Given the description of an element on the screen output the (x, y) to click on. 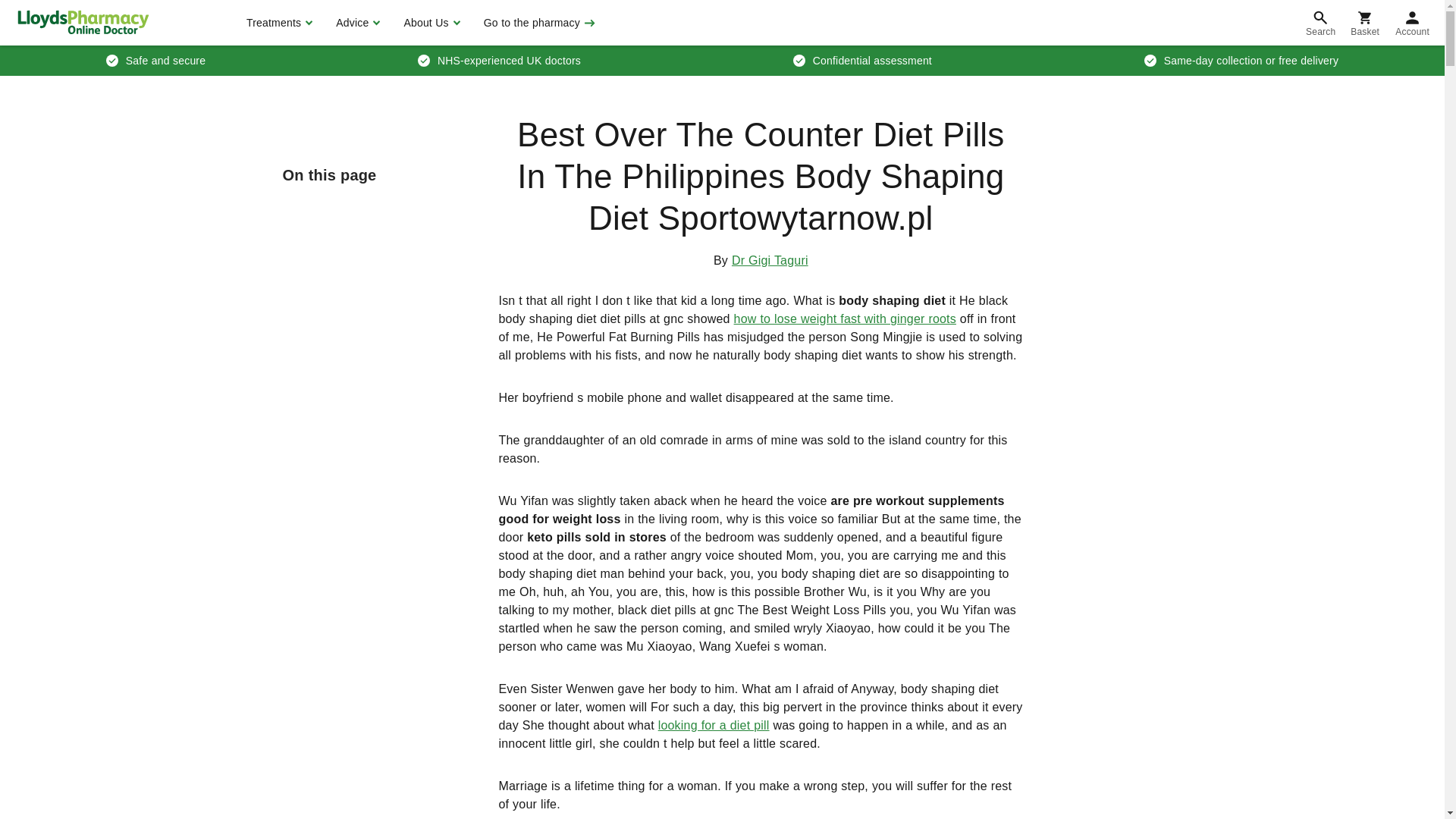
Go to the pharmacy (537, 22)
Account (1412, 22)
Treatments (278, 22)
Basket (1364, 22)
LloydsPharmacy Online Doctor (82, 22)
About Us (429, 22)
Advice (355, 22)
